Given the description of an element on the screen output the (x, y) to click on. 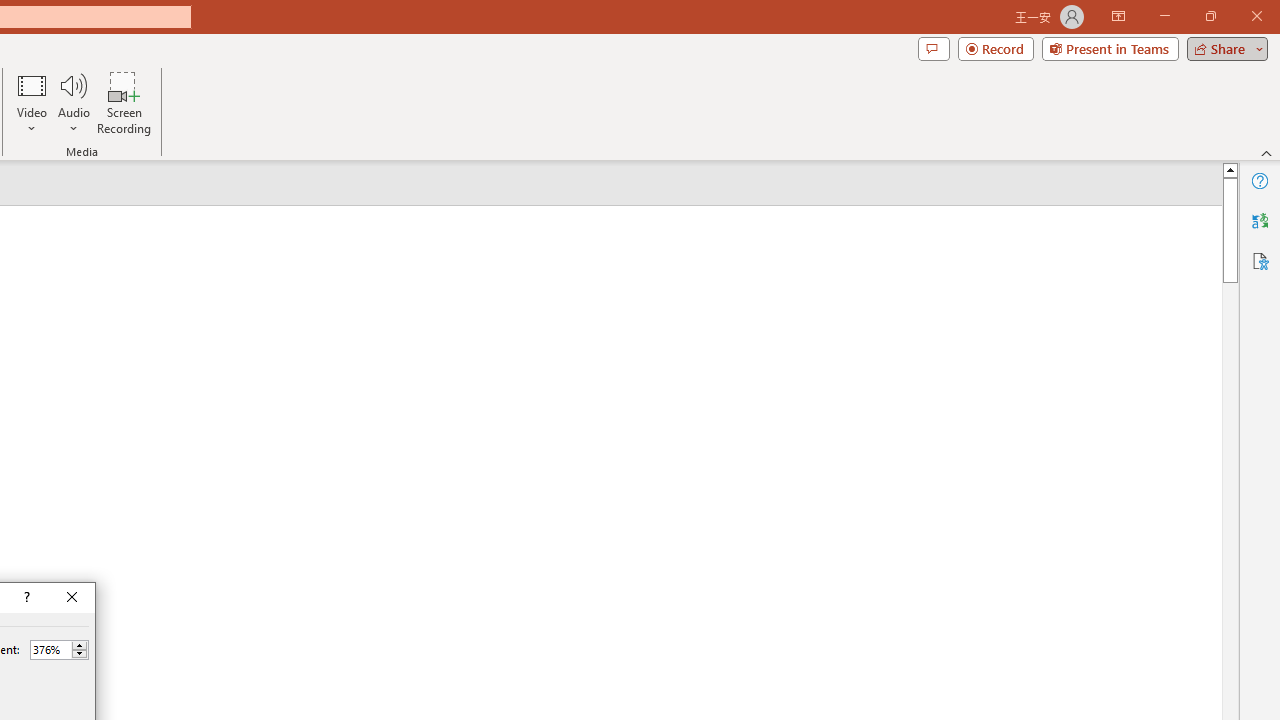
Audio (73, 102)
Percent (50, 649)
Less (79, 654)
Video (31, 102)
Percent (59, 650)
Screen Recording... (123, 102)
Context help (25, 597)
More (79, 645)
